Given the description of an element on the screen output the (x, y) to click on. 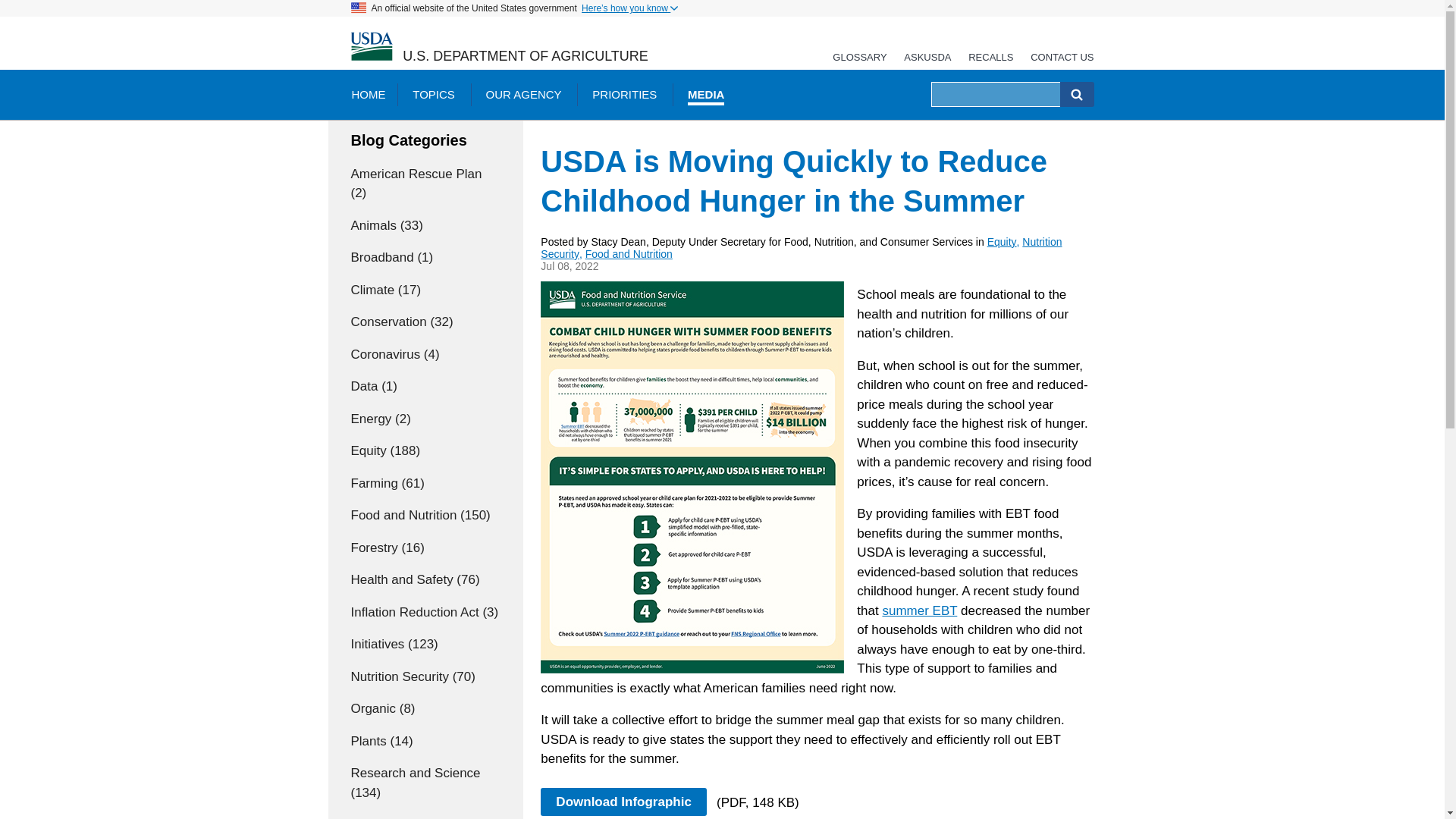
TOPICS (433, 94)
Home (525, 55)
Home (370, 46)
PRIORITIES (623, 94)
OUR AGENCY (523, 94)
U.S. DEPARTMENT OF AGRICULTURE (525, 55)
HOME (367, 94)
